Given the description of an element on the screen output the (x, y) to click on. 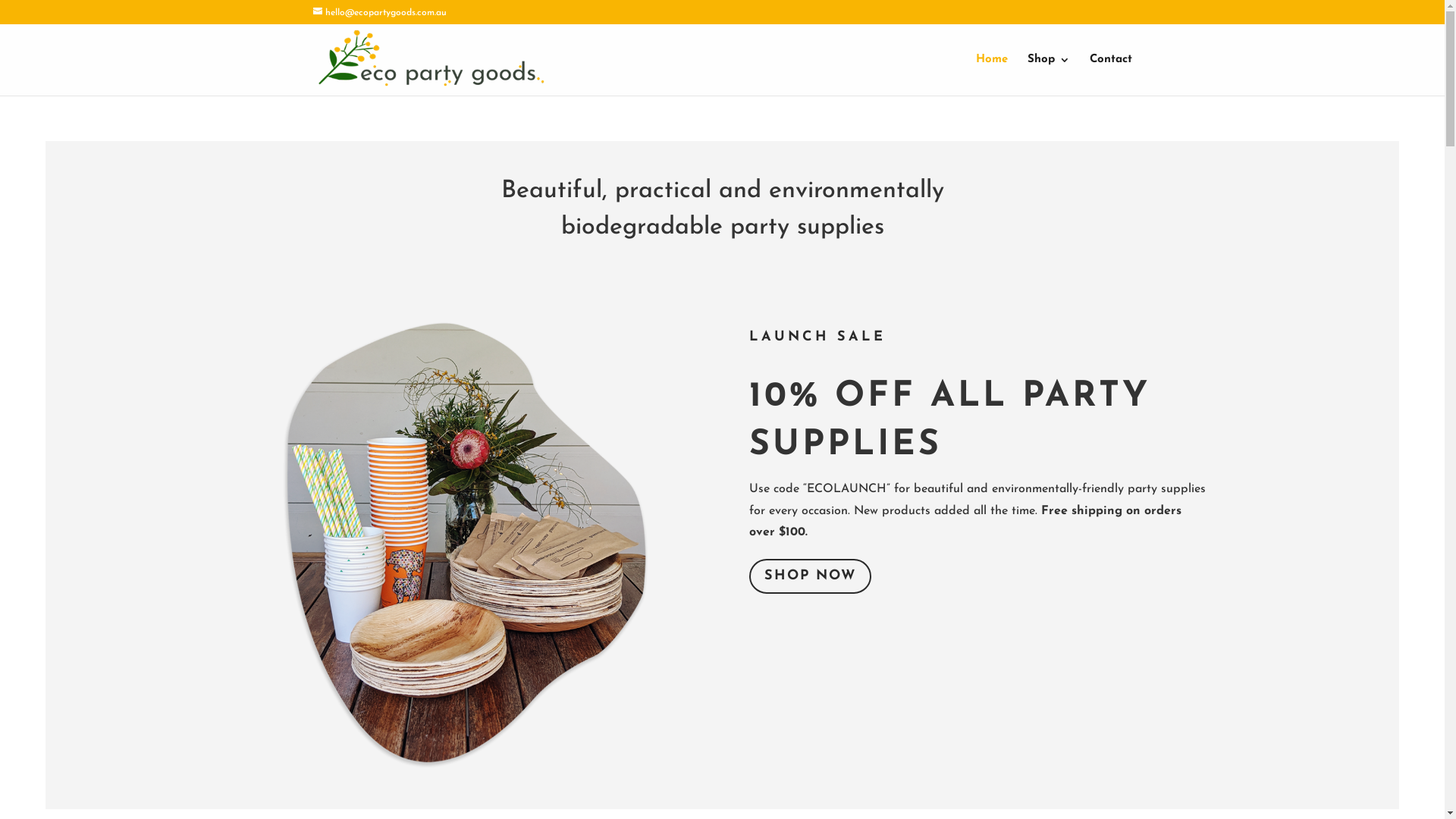
Eco Party Goods - Launch Header Element type: hover (465, 542)
hello@ecopartygoods.com.au Element type: text (378, 12)
Shop Element type: text (1047, 74)
Home Element type: text (991, 74)
SHOP NOW Element type: text (810, 575)
Contact Element type: text (1109, 74)
